Given the description of an element on the screen output the (x, y) to click on. 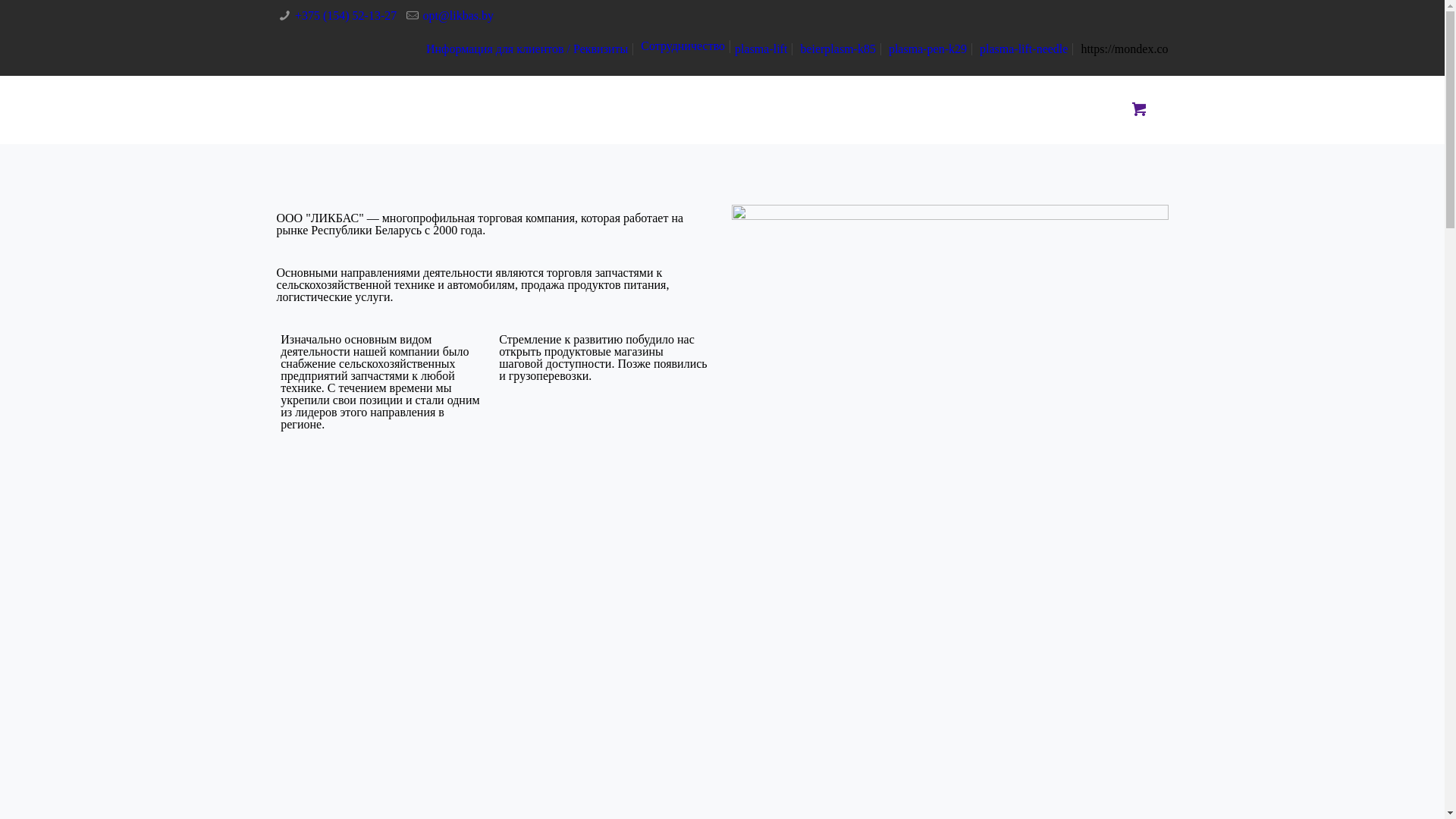
+375 (154) 52-13-27 Element type: text (345, 15)
beierplasm-k85 Element type: text (837, 48)
opt@likbas.by Element type: text (458, 15)
plasma-pen-k29 Element type: text (927, 48)
plasma-lift Element type: text (760, 48)
0 Element type: text (1138, 108)
Search Element type: text (31, 14)
plasma-lift-needle Element type: text (1023, 48)
